Given the description of an element on the screen output the (x, y) to click on. 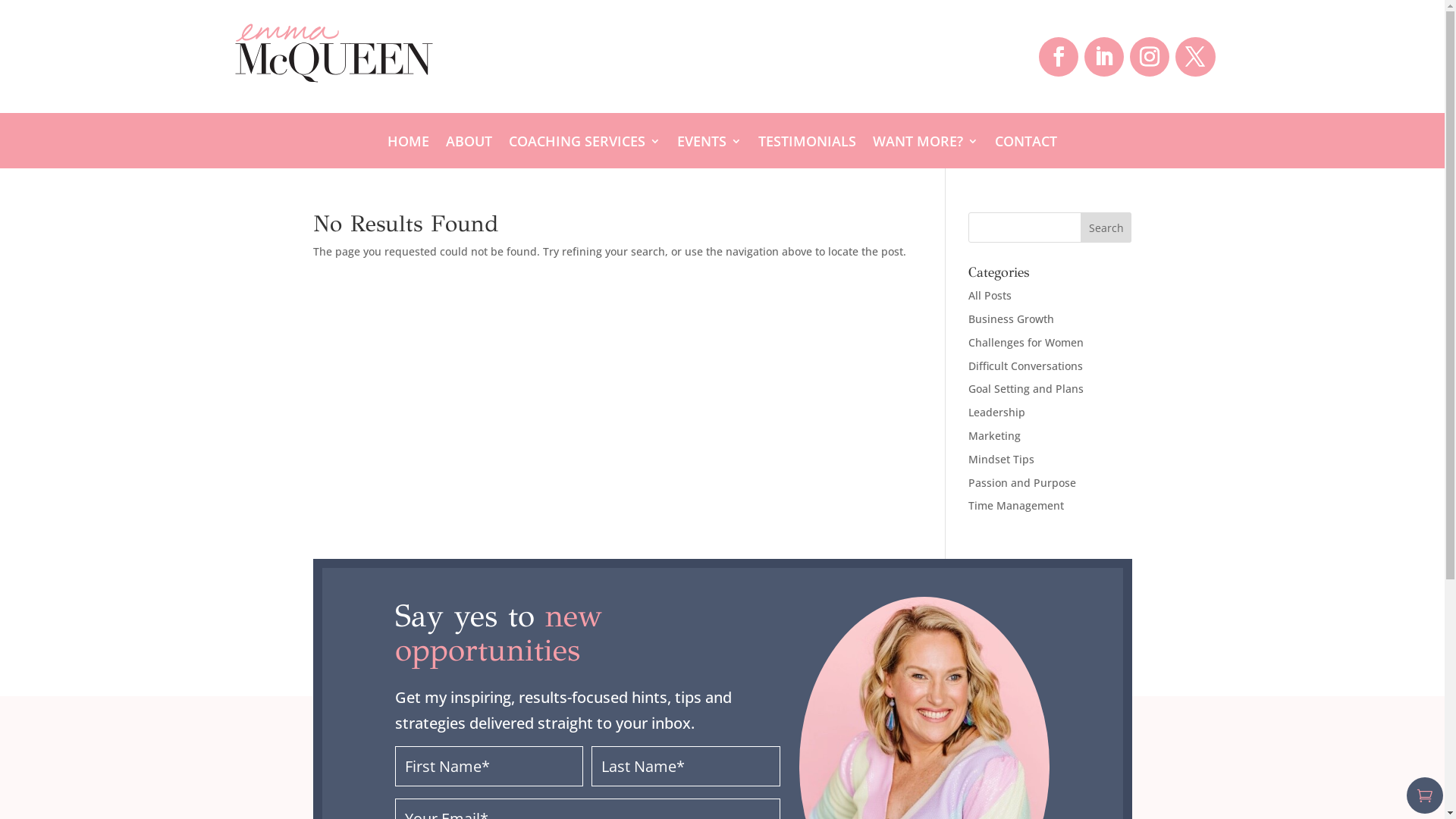
Challenges for Women Element type: text (1025, 342)
logo Element type: hover (333, 52)
Time Management Element type: text (1015, 505)
Goal Setting and Plans Element type: text (1025, 388)
Follow on X Element type: hover (1194, 56)
CONTACT Element type: text (1025, 143)
COACHING SERVICES Element type: text (584, 143)
All Posts Element type: text (989, 295)
Passion and Purpose Element type: text (1022, 482)
HOME Element type: text (408, 143)
Follow on Facebook Element type: hover (1058, 56)
Leadership Element type: text (996, 411)
Marketing Element type: text (994, 435)
Business Growth Element type: text (1011, 318)
Difficult Conversations Element type: text (1025, 365)
Mindset Tips Element type: text (1001, 458)
WANT MORE? Element type: text (925, 143)
EVENTS Element type: text (709, 143)
Follow on LinkedIn Element type: hover (1103, 56)
Search Element type: text (1106, 227)
Follow on Instagram Element type: hover (1149, 56)
TESTIMONIALS Element type: text (807, 143)
ABOUT Element type: text (468, 143)
